Given the description of an element on the screen output the (x, y) to click on. 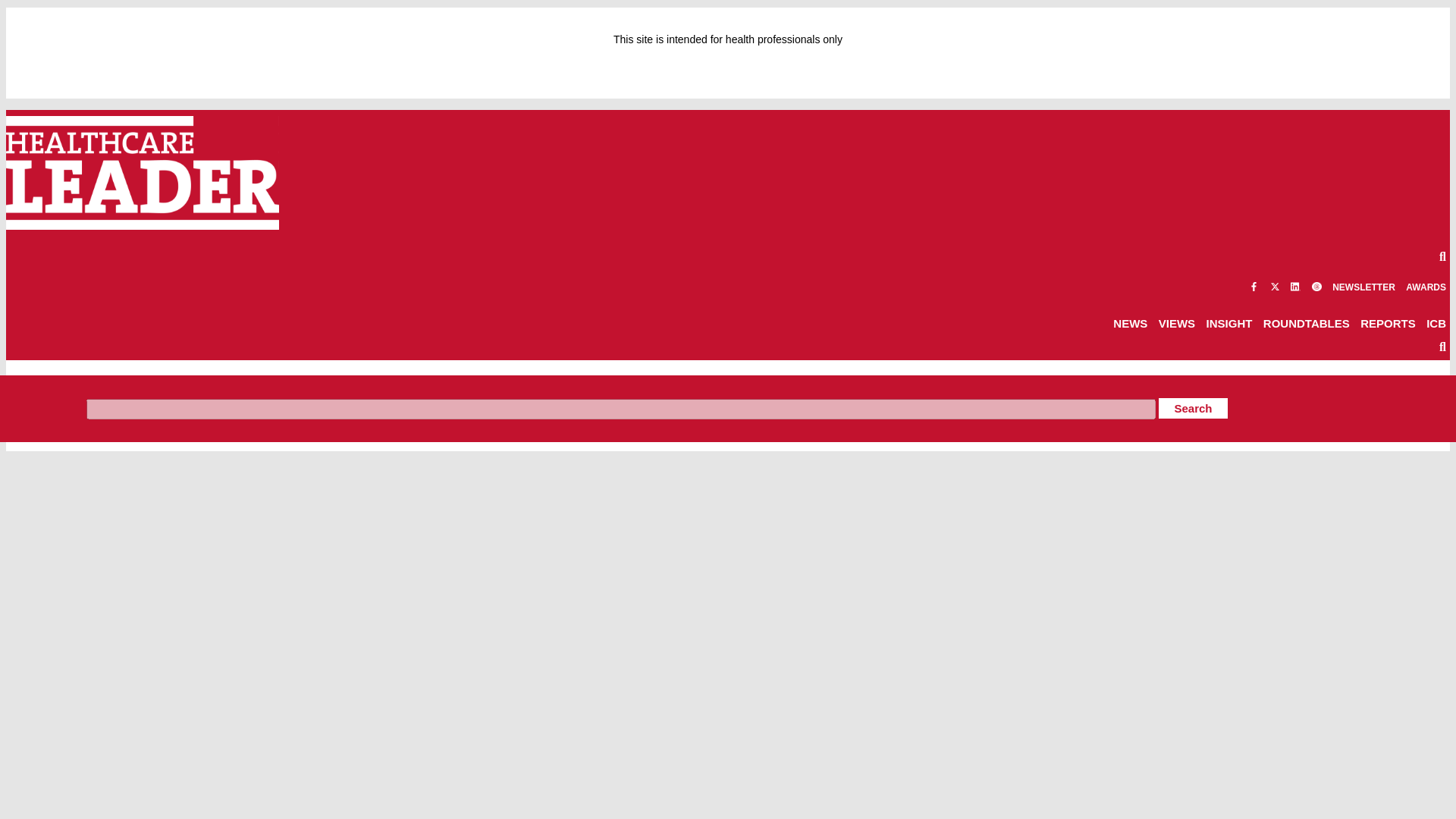
Search (1192, 408)
ROUNDTABLES (1306, 323)
INSIGHT (1229, 323)
Search (1192, 408)
Home (18, 386)
NEWSLETTER (1363, 286)
NEWS (1130, 323)
REPORTS (1387, 323)
Home (18, 386)
VIEWS (1176, 323)
